Given the description of an element on the screen output the (x, y) to click on. 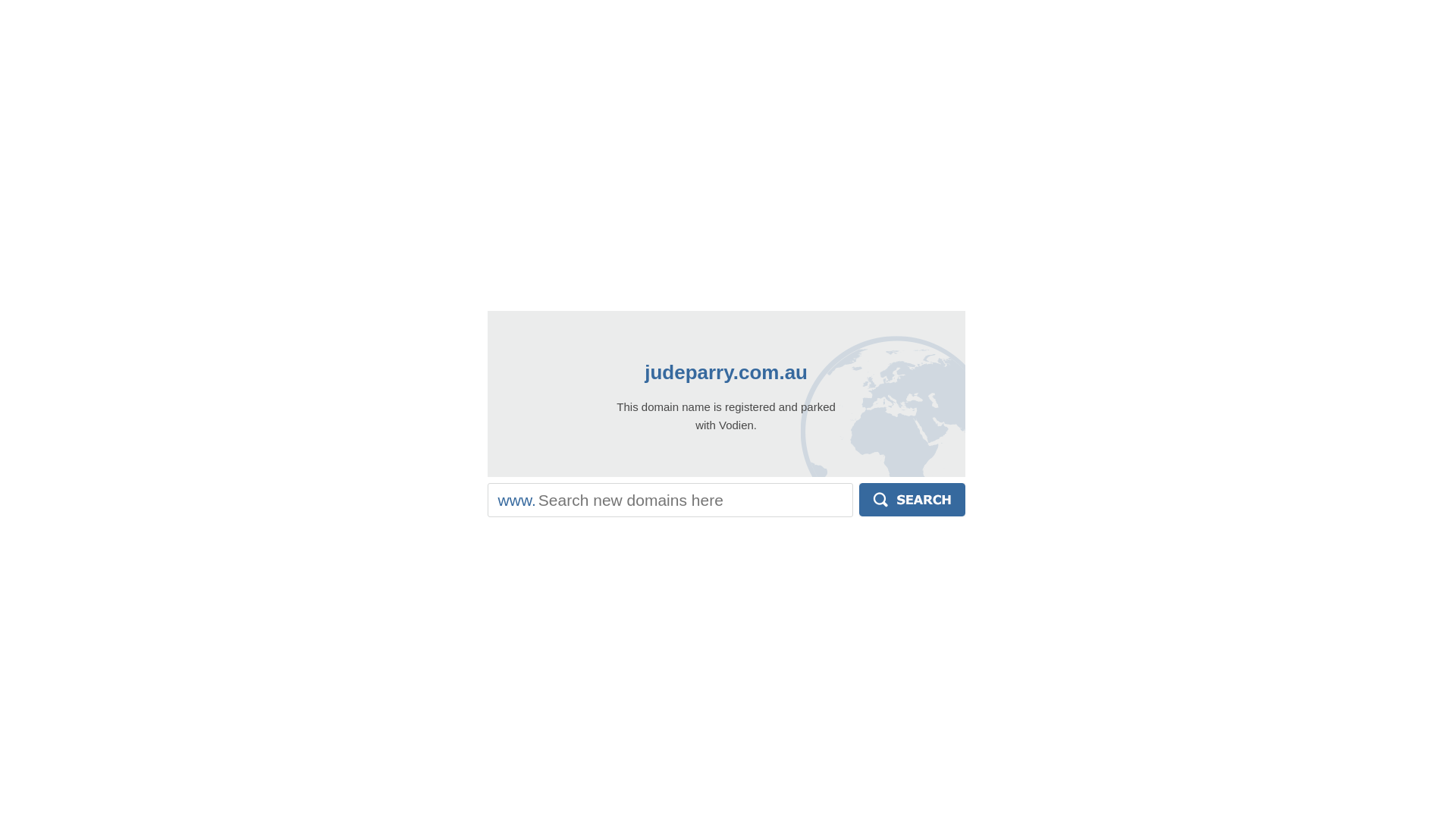
Search Element type: text (912, 499)
